Given the description of an element on the screen output the (x, y) to click on. 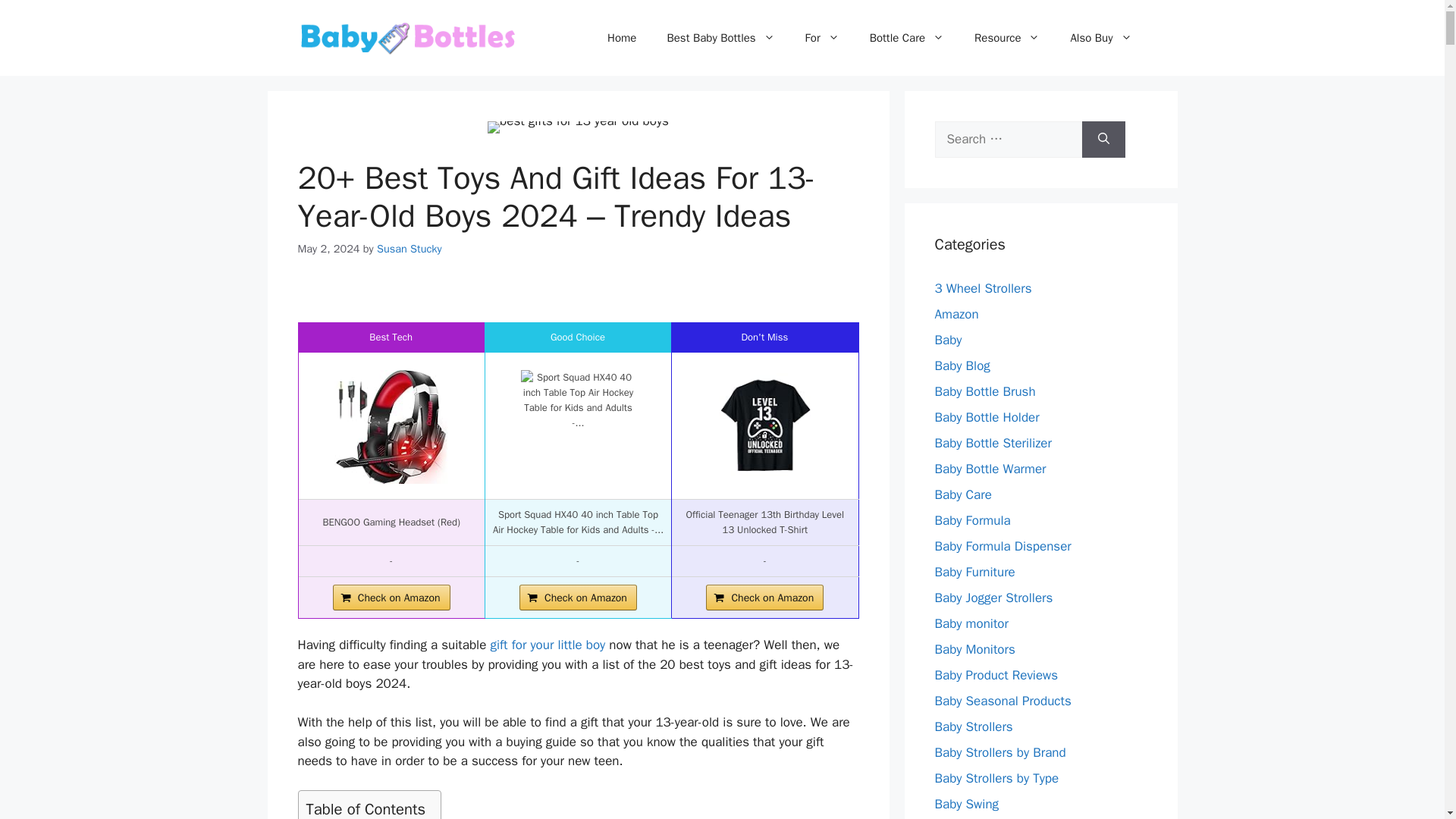
Check on Amazon (765, 597)
gift for your little boy (545, 644)
Check on Amazon (391, 597)
Susan Stucky (409, 248)
Check on Amazon (578, 597)
Best Baby Bottles (719, 37)
View all posts by Susan Stucky (409, 248)
Home (621, 37)
Bottle Care (906, 37)
Also Buy (1100, 37)
